Given the description of an element on the screen output the (x, y) to click on. 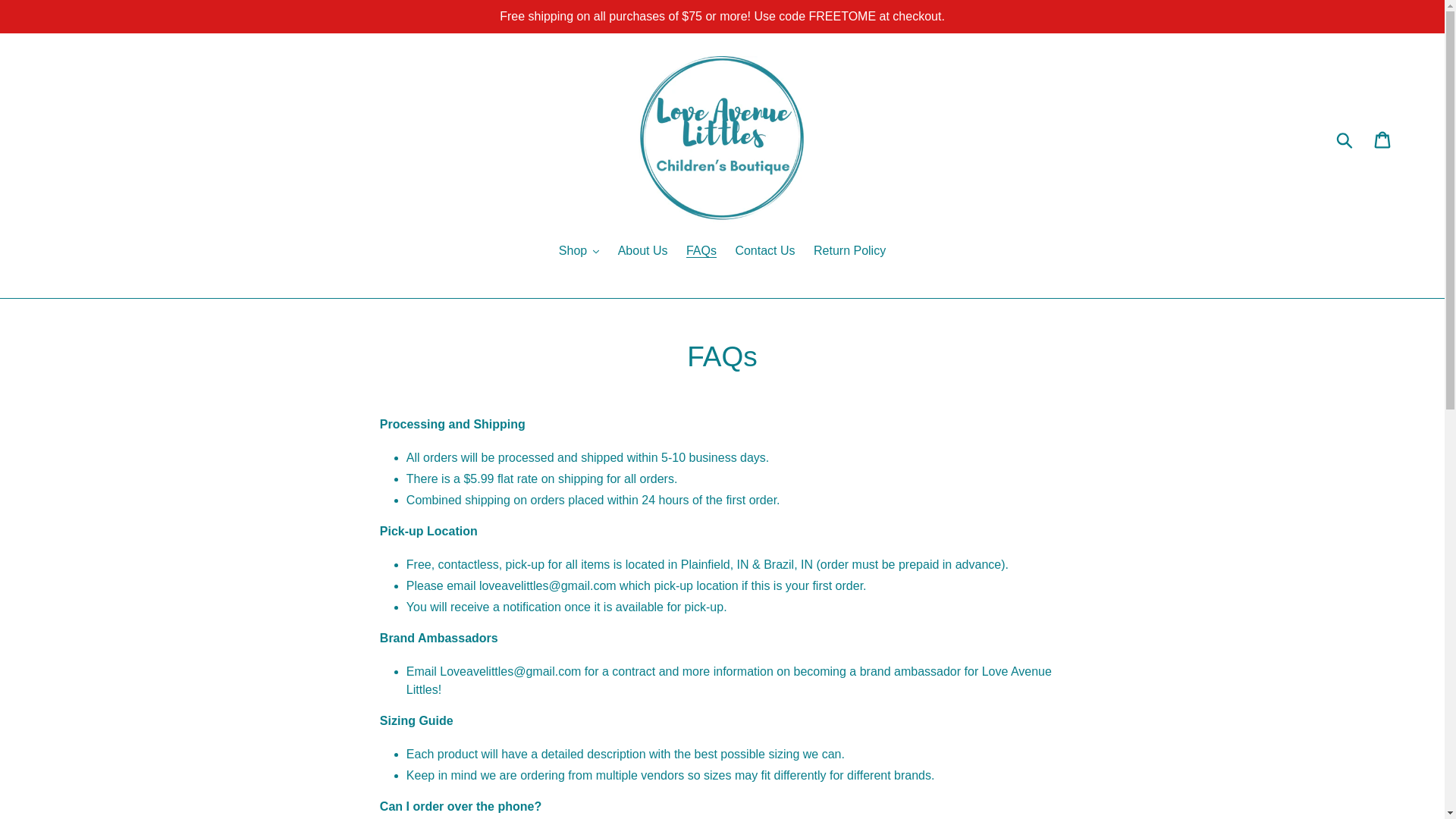
Cart (1387, 139)
Submit (1348, 139)
